Given the description of an element on the screen output the (x, y) to click on. 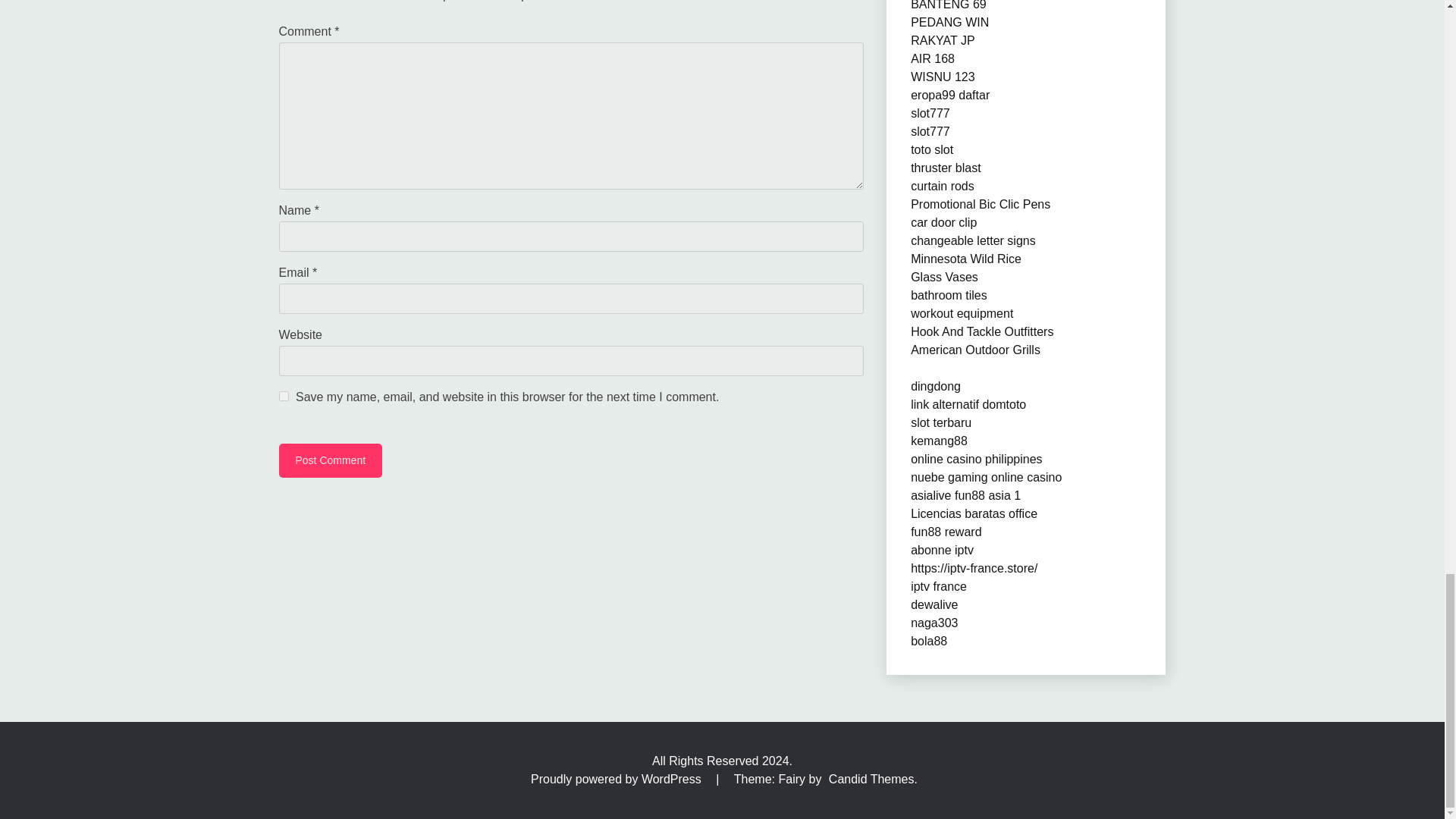
yes (283, 396)
Post Comment (330, 460)
Post Comment (330, 460)
